Given the description of an element on the screen output the (x, y) to click on. 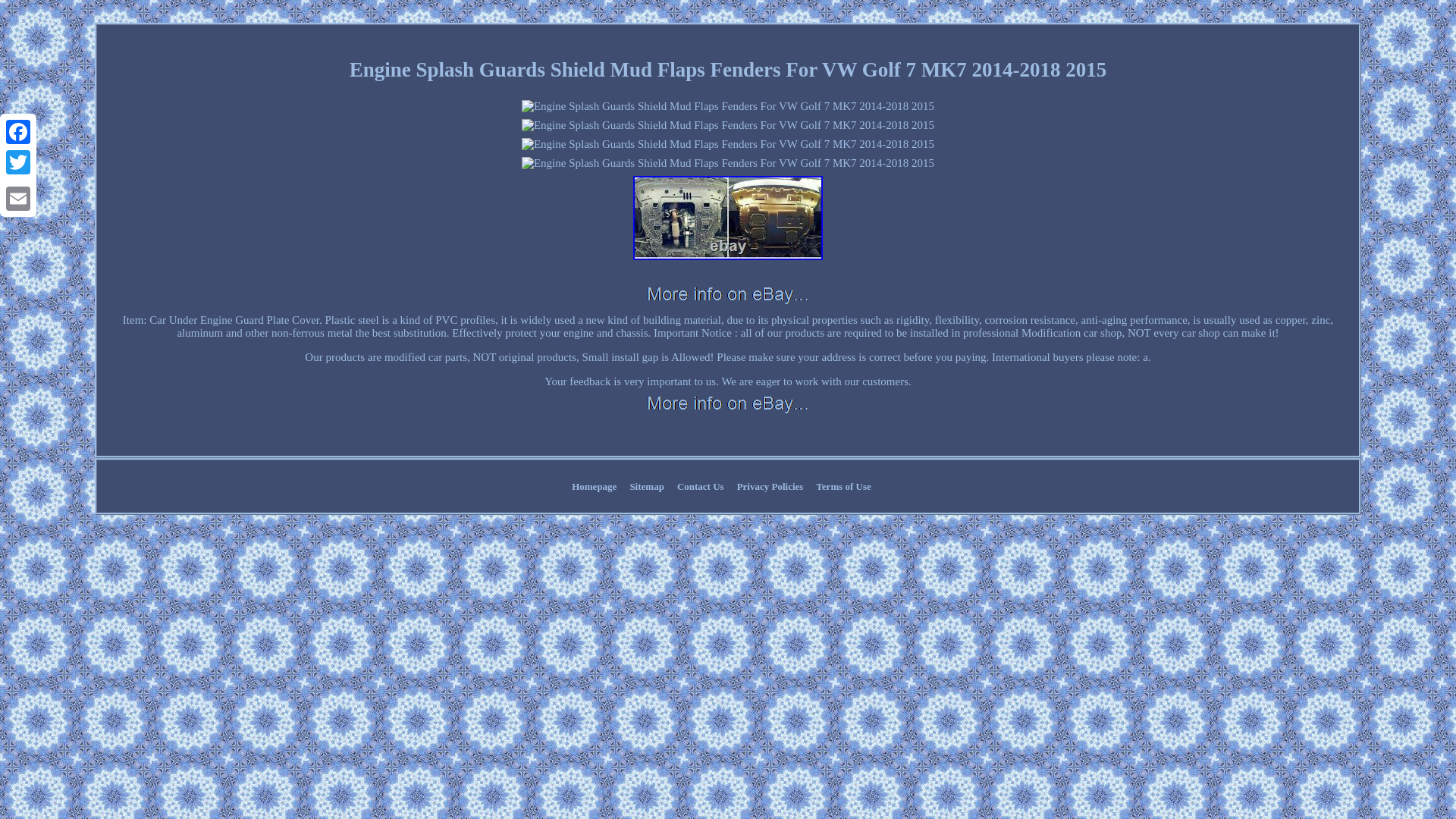
Email (17, 198)
Facebook (17, 132)
Twitter (17, 162)
